Given the description of an element on the screen output the (x, y) to click on. 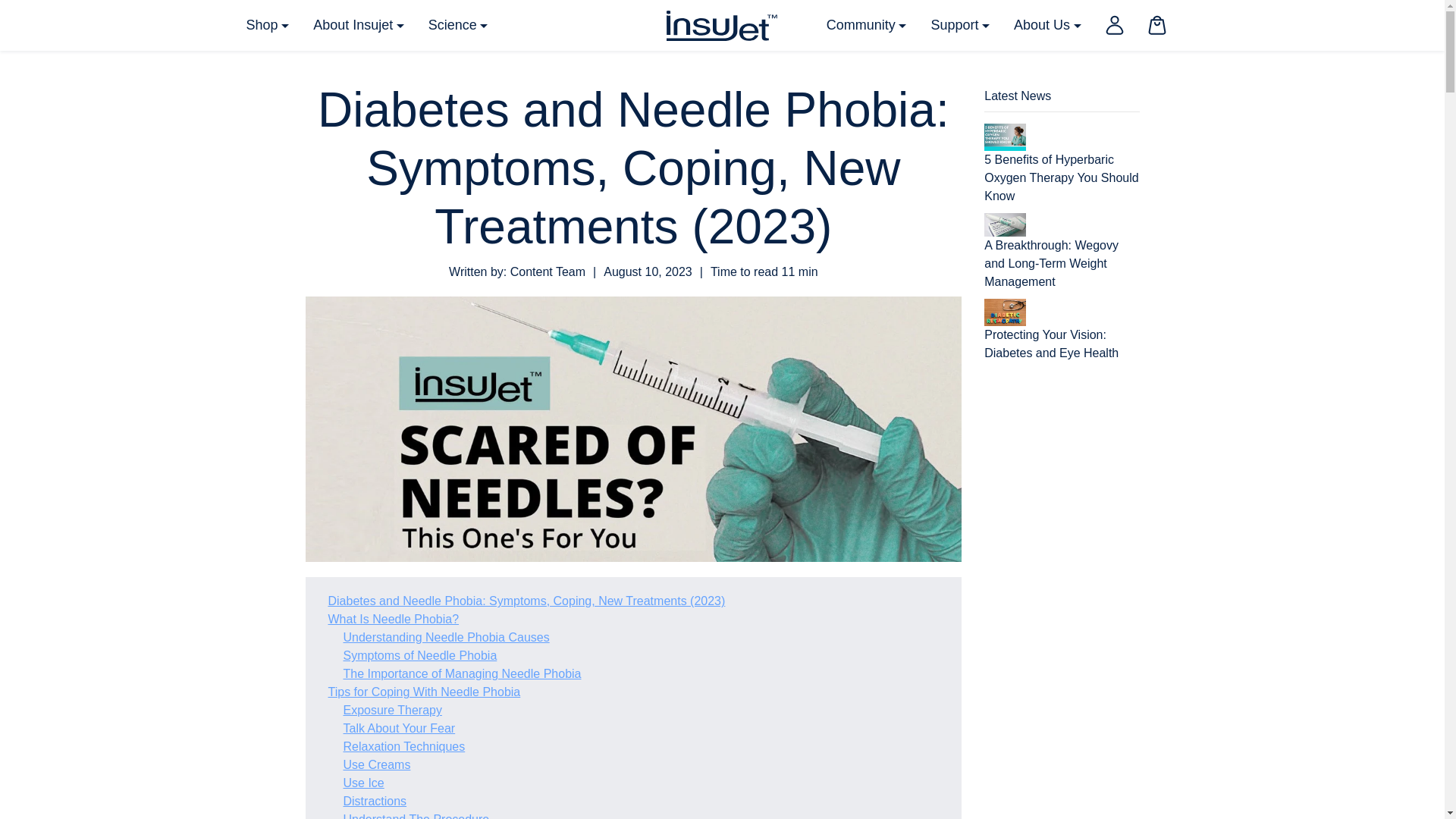
About Insujet (358, 25)
Support (959, 25)
Community (865, 25)
Science (458, 25)
About Us (1047, 25)
Shop (266, 25)
